Given the description of an element on the screen output the (x, y) to click on. 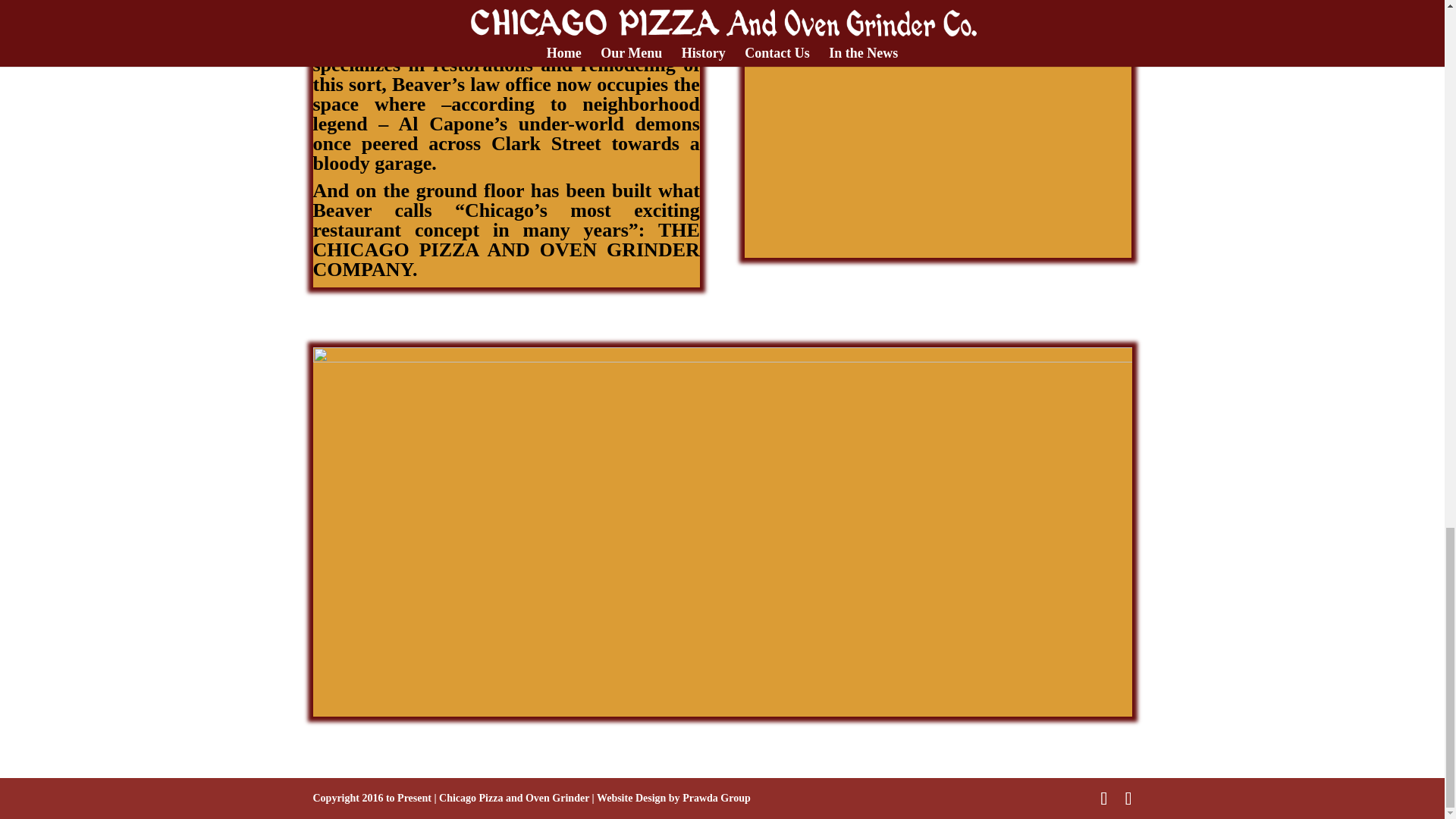
Chicago Pizza and Oven Grinder (514, 797)
Prawda Group (716, 797)
